Given the description of an element on the screen output the (x, y) to click on. 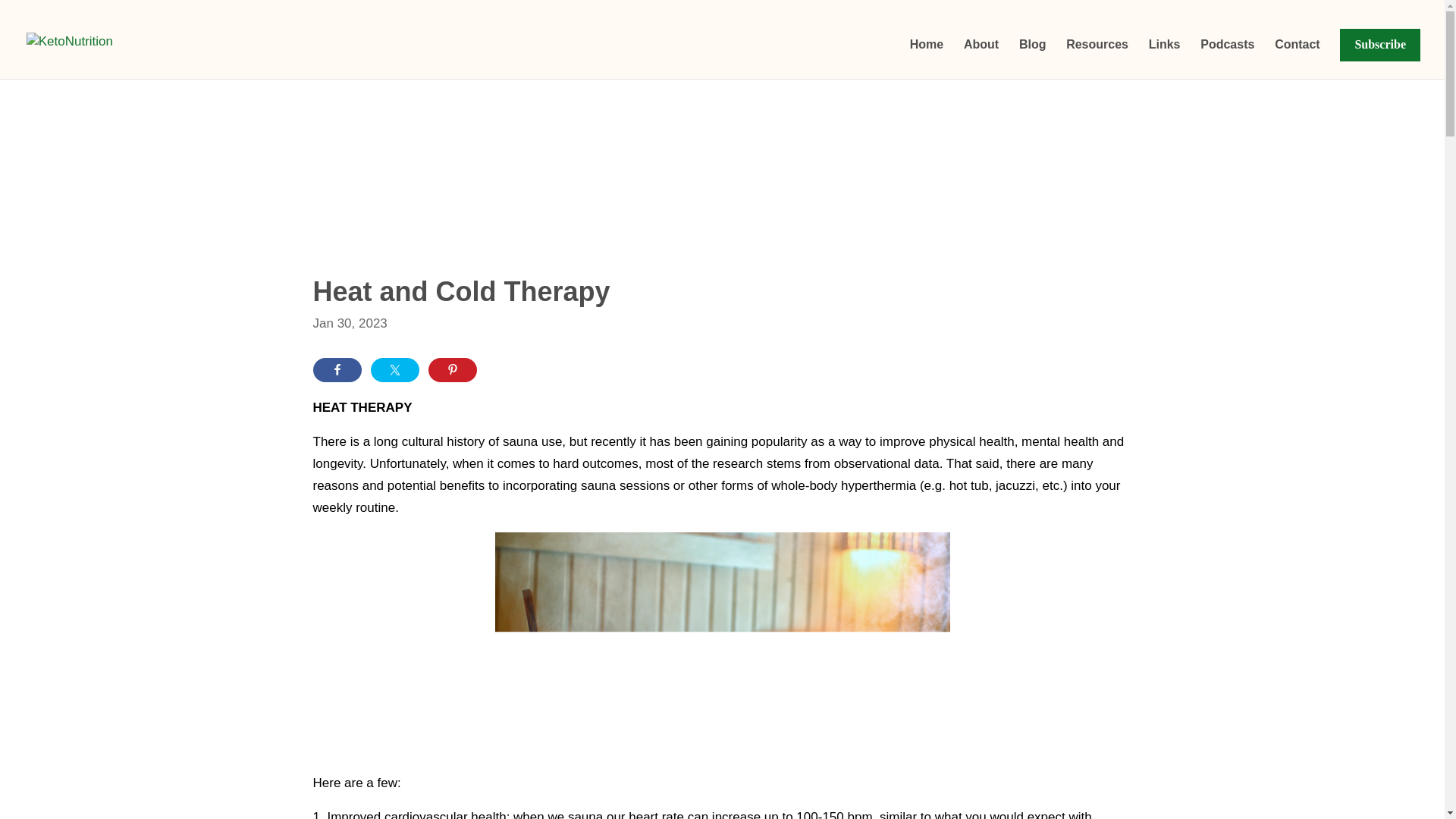
Subscribe (1380, 58)
Podcasts (1226, 58)
Share on Facebook (337, 369)
Share on Pinterest (452, 369)
Resources (1096, 58)
Share on Twitter (394, 369)
Contact (1297, 58)
